Given the description of an element on the screen output the (x, y) to click on. 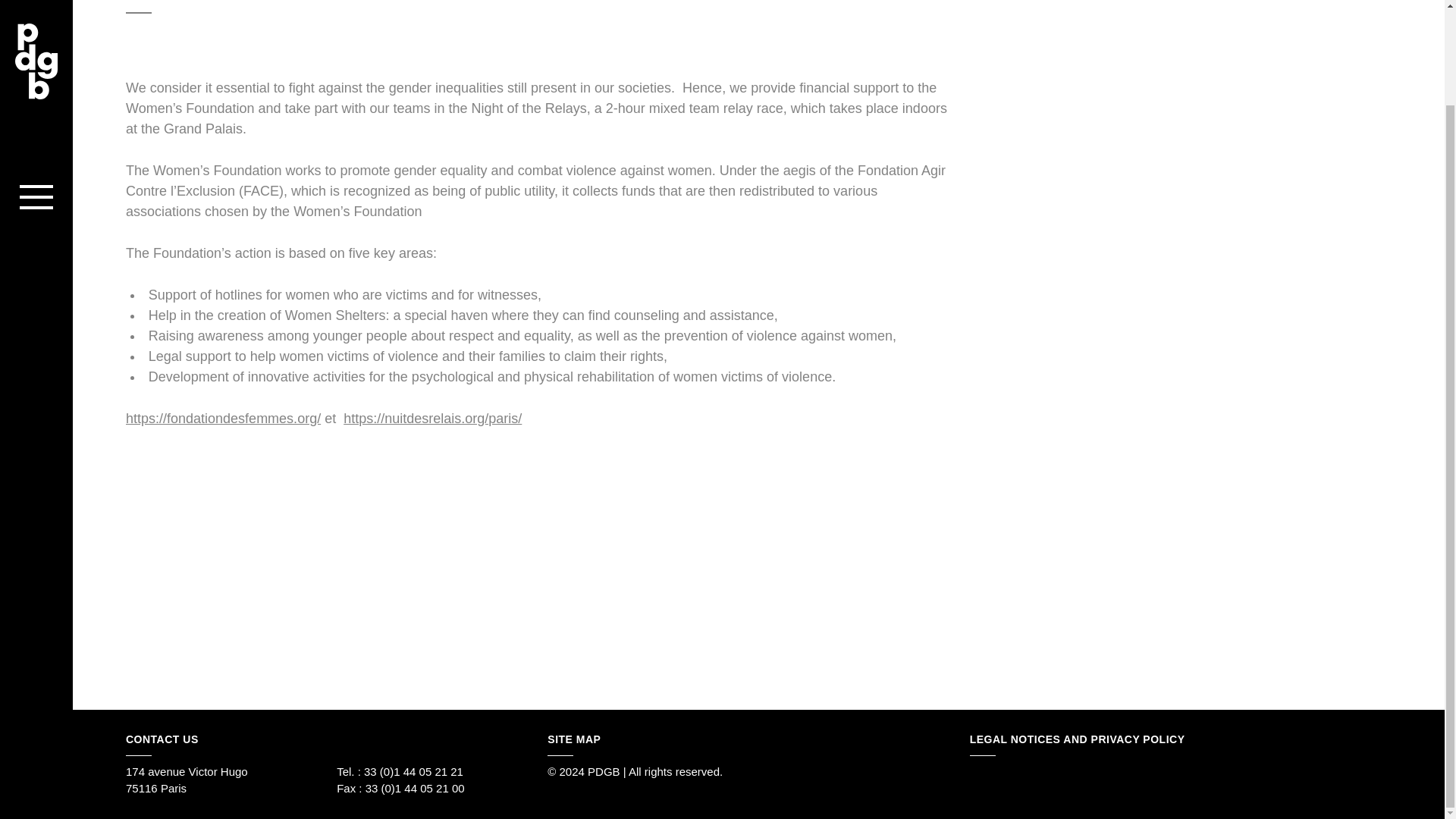
SITE MAP (573, 739)
CONTACT US (161, 739)
LEGAL NOTICES AND PRIVACY POLICY (1077, 739)
VALIDER (501, 507)
